Given the description of an element on the screen output the (x, y) to click on. 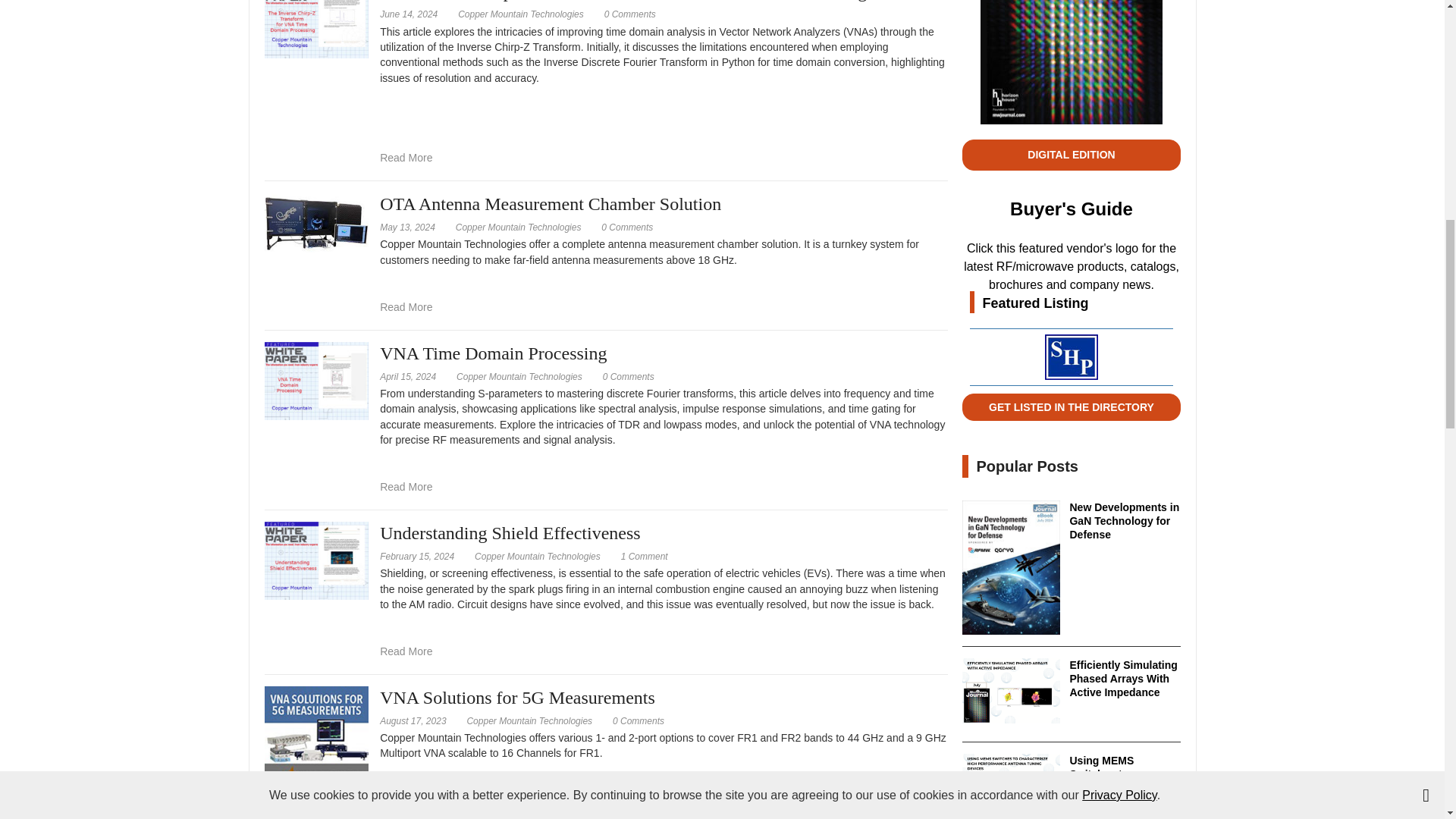
OTA  Antenna Measurement Chamber Solution (626, 226)
OTA  Antenna Measurement Chamber Solution (315, 222)
The Inverse Chirp-Z Transform for VNA Time Domain Processing (315, 18)
OTA  Antenna Measurement Chamber Solution (406, 306)
The Inverse Chirp-Z Transform for VNA Time Domain Processing (406, 157)
VNA Time Domain Processing (315, 379)
Antenna Meas Chamber.jpg (315, 222)
The Inverse Chirp-Z Transform for VNA Time Domain Processing (630, 14)
